Given the description of an element on the screen output the (x, y) to click on. 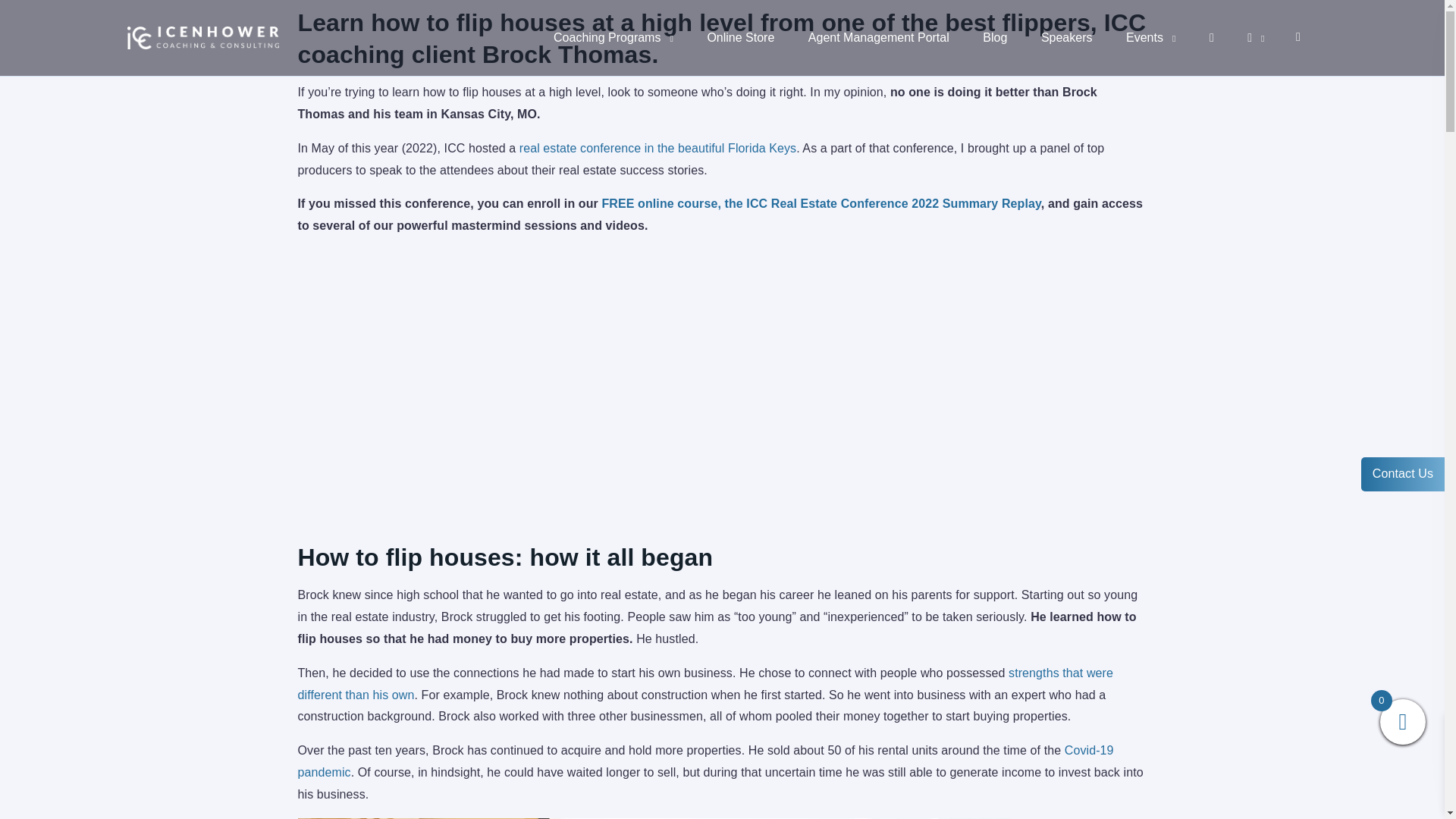
Speakers (1067, 37)
Online Store (740, 37)
Events (1150, 37)
Agent Management Portal (878, 37)
Coaching Programs (613, 37)
